Given the description of an element on the screen output the (x, y) to click on. 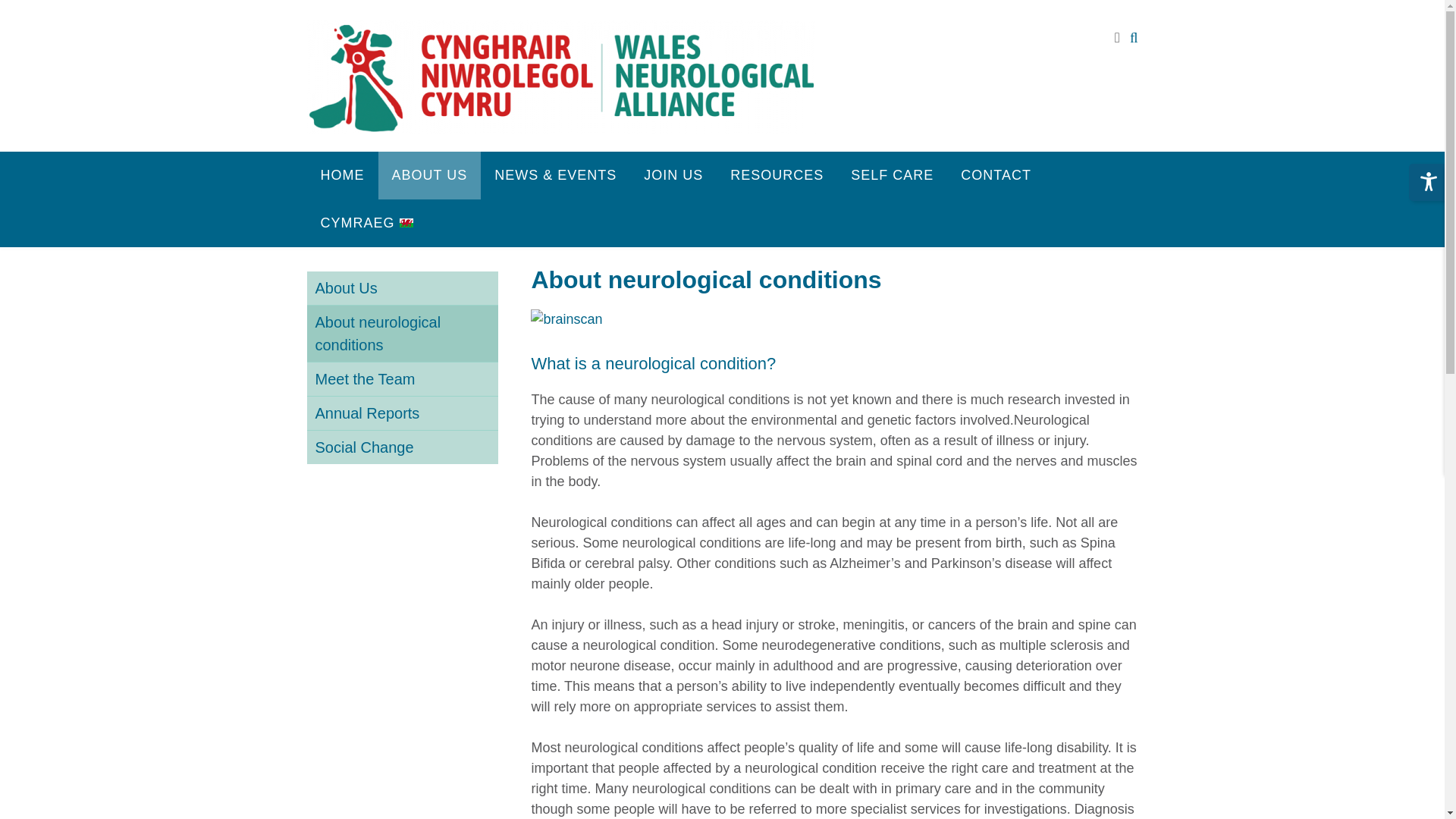
RESOURCES (776, 175)
JOIN US (673, 175)
HOME (341, 175)
SELF CARE (892, 175)
ABOUT US (428, 175)
Cymraeg (365, 223)
